Given the description of an element on the screen output the (x, y) to click on. 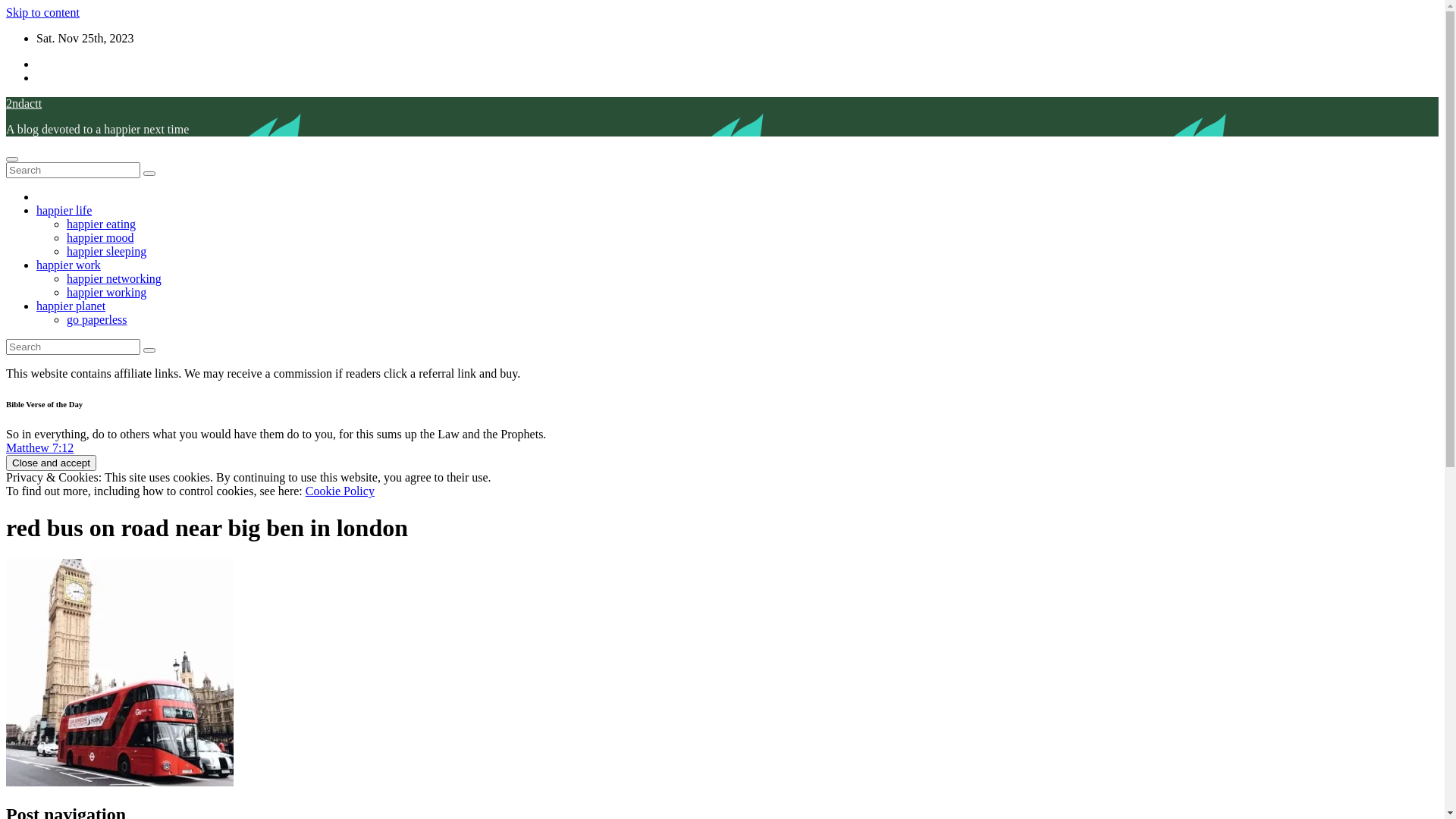
go paperless Element type: text (96, 319)
Skip to content Element type: text (42, 12)
red bus on road near big ben in london Element type: text (206, 527)
happier work Element type: text (68, 264)
happier working Element type: text (106, 291)
2ndactt Element type: text (23, 103)
Cookie Policy Element type: text (339, 490)
happier networking Element type: text (113, 278)
Close and accept Element type: text (51, 462)
happier mood Element type: text (99, 237)
happier planet Element type: text (70, 305)
Matthew 7:12 Element type: text (39, 447)
happier life Element type: text (63, 209)
happier eating Element type: text (100, 223)
happier sleeping Element type: text (106, 250)
